Given the description of an element on the screen output the (x, y) to click on. 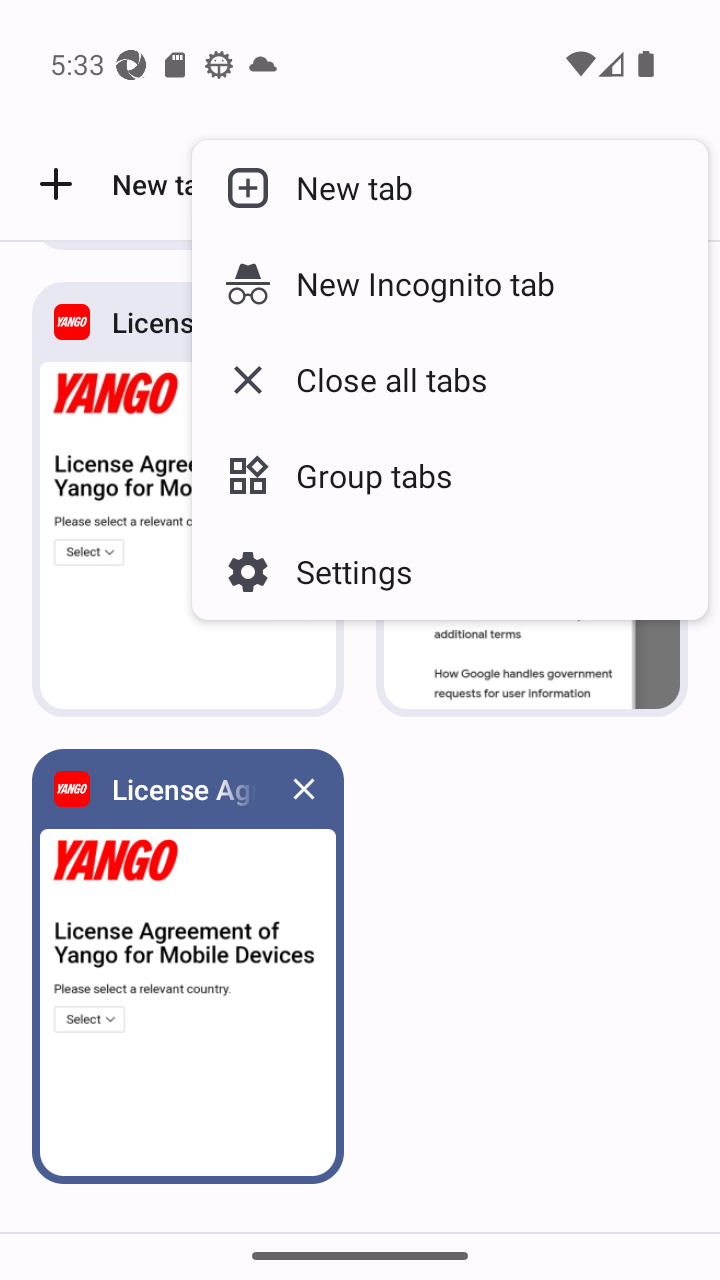
New tab (449, 187)
New Incognito tab (449, 283)
Close all tabs (449, 379)
Group tabs (449, 475)
Settings (449, 571)
